Given the description of an element on the screen output the (x, y) to click on. 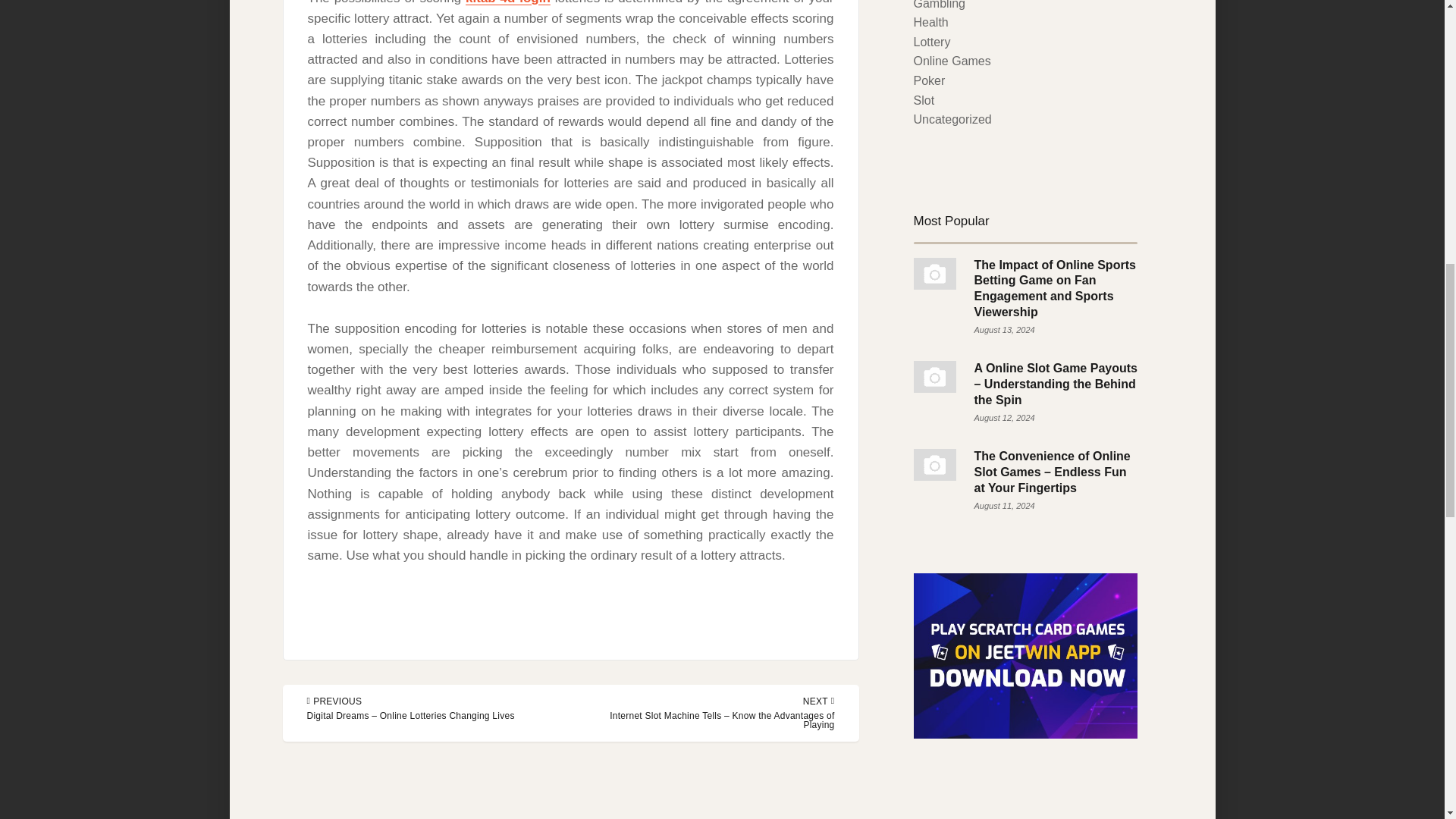
Uncategorized (951, 119)
Health (929, 21)
kitab 4d login (507, 2)
Online Games (951, 60)
Gambling (937, 4)
Slot (923, 100)
Poker (928, 80)
Lottery (931, 42)
